Given the description of an element on the screen output the (x, y) to click on. 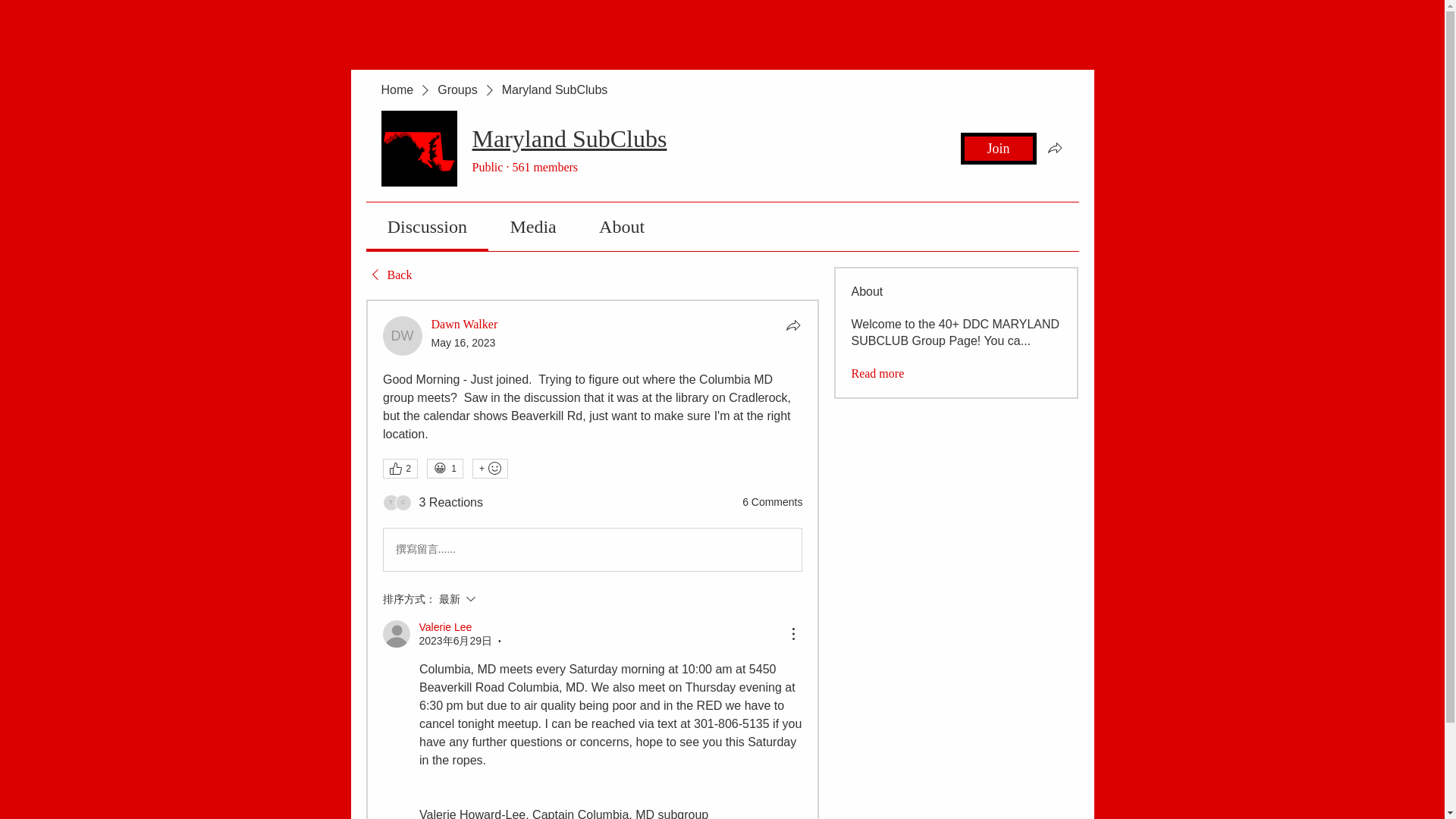
Tracey Bogans Hobbs (389, 502)
Dawn Walker (401, 335)
Cassandra Belton (402, 502)
